Given the description of an element on the screen output the (x, y) to click on. 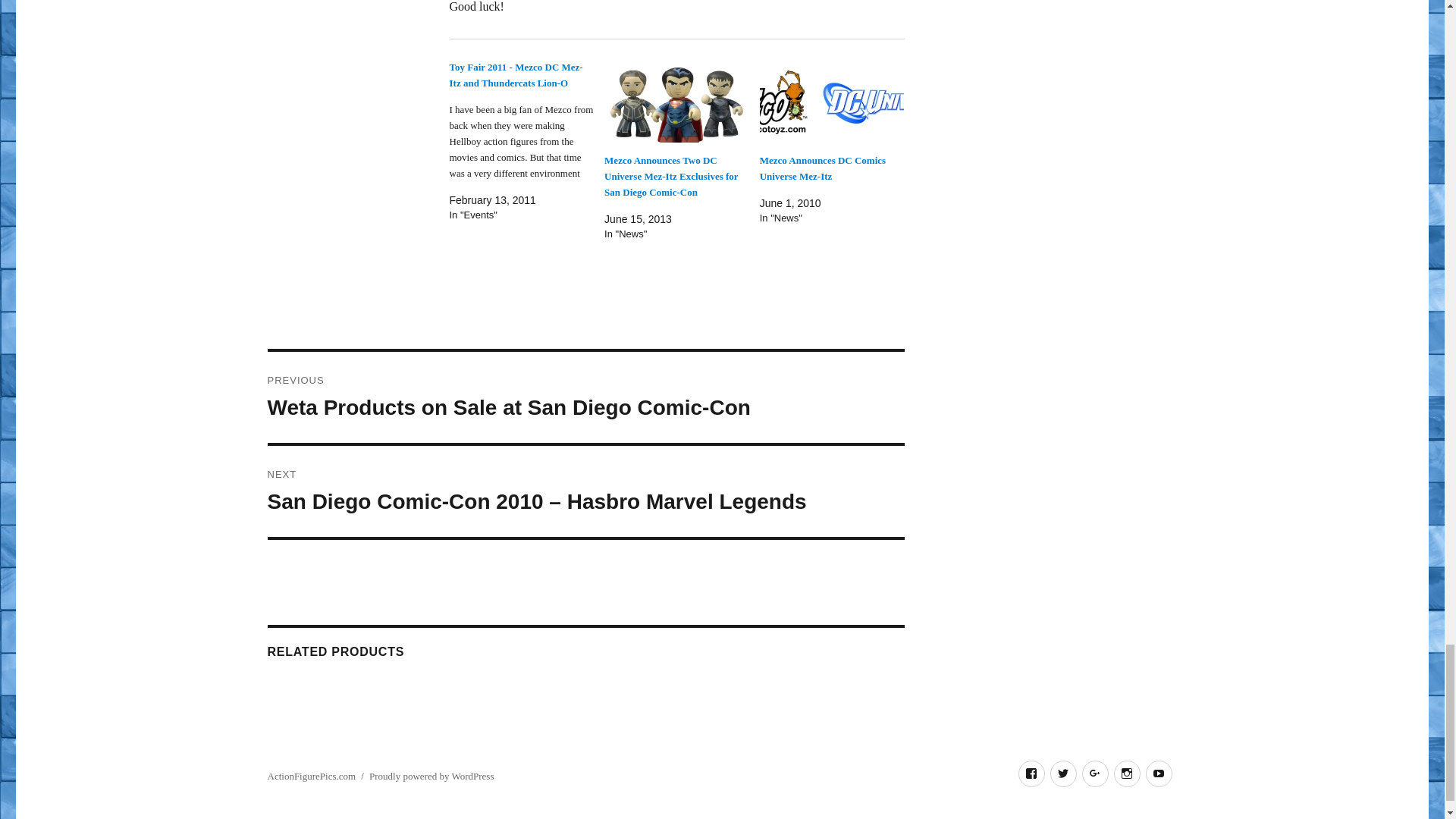
Toy Fair 2011 - Mezco DC Mez-Itz and Thundercats Lion-O (515, 74)
Mezco Announces DC Comics Universe Mez-Itz (832, 100)
Toy Fair 2011 - Mezco DC Mez-Itz and Thundercats Lion-O (526, 141)
Toy Fair 2011 - Mezco DC Mez-Itz and Thundercats Lion-O (515, 74)
Mezco Announces DC Comics Universe Mez-Itz (822, 167)
